Given the description of an element on the screen output the (x, y) to click on. 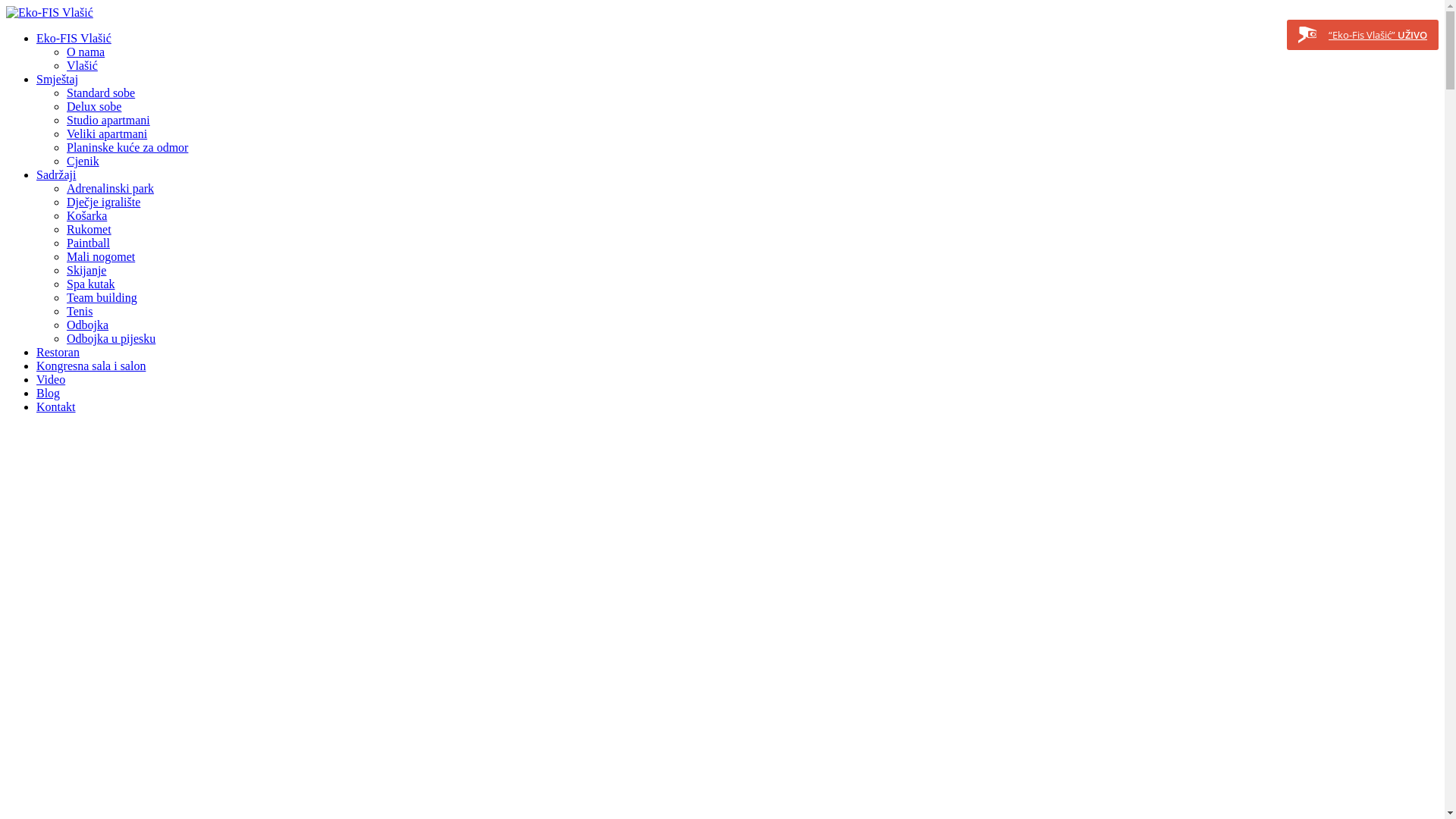
Team building Element type: text (101, 297)
Studio apartmani Element type: text (108, 120)
Restoran Element type: text (57, 351)
Adrenalinski park Element type: text (109, 188)
Cjenik Element type: text (82, 161)
Odbojka u pijesku Element type: text (110, 338)
Skijanje Element type: text (86, 270)
Mali nogomet Element type: text (100, 256)
Kongresna sala i salon Element type: text (90, 365)
Spa kutak Element type: text (90, 283)
O nama Element type: text (85, 51)
Standard sobe Element type: text (100, 92)
Video Element type: text (50, 379)
Odbojka Element type: text (87, 324)
Veliki apartmani Element type: text (106, 133)
Paintball Element type: text (87, 243)
Kontakt Element type: text (55, 406)
Rukomet Element type: text (88, 229)
Delux sobe Element type: text (93, 106)
Skip to content Element type: text (6, 6)
Blog Element type: text (47, 392)
Tenis Element type: text (79, 311)
